Given the description of an element on the screen output the (x, y) to click on. 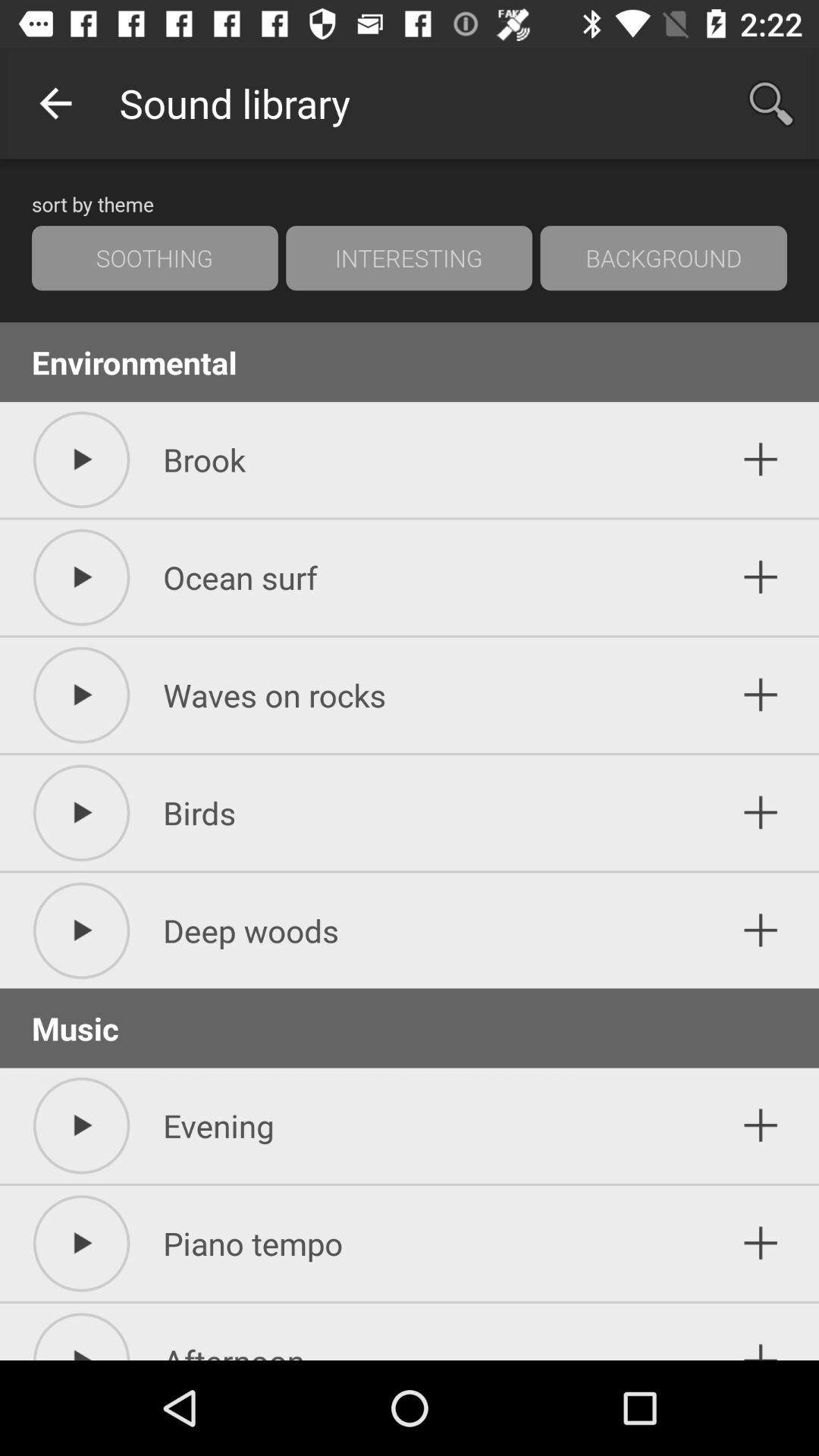
open the icon next to interesting icon (154, 257)
